Given the description of an element on the screen output the (x, y) to click on. 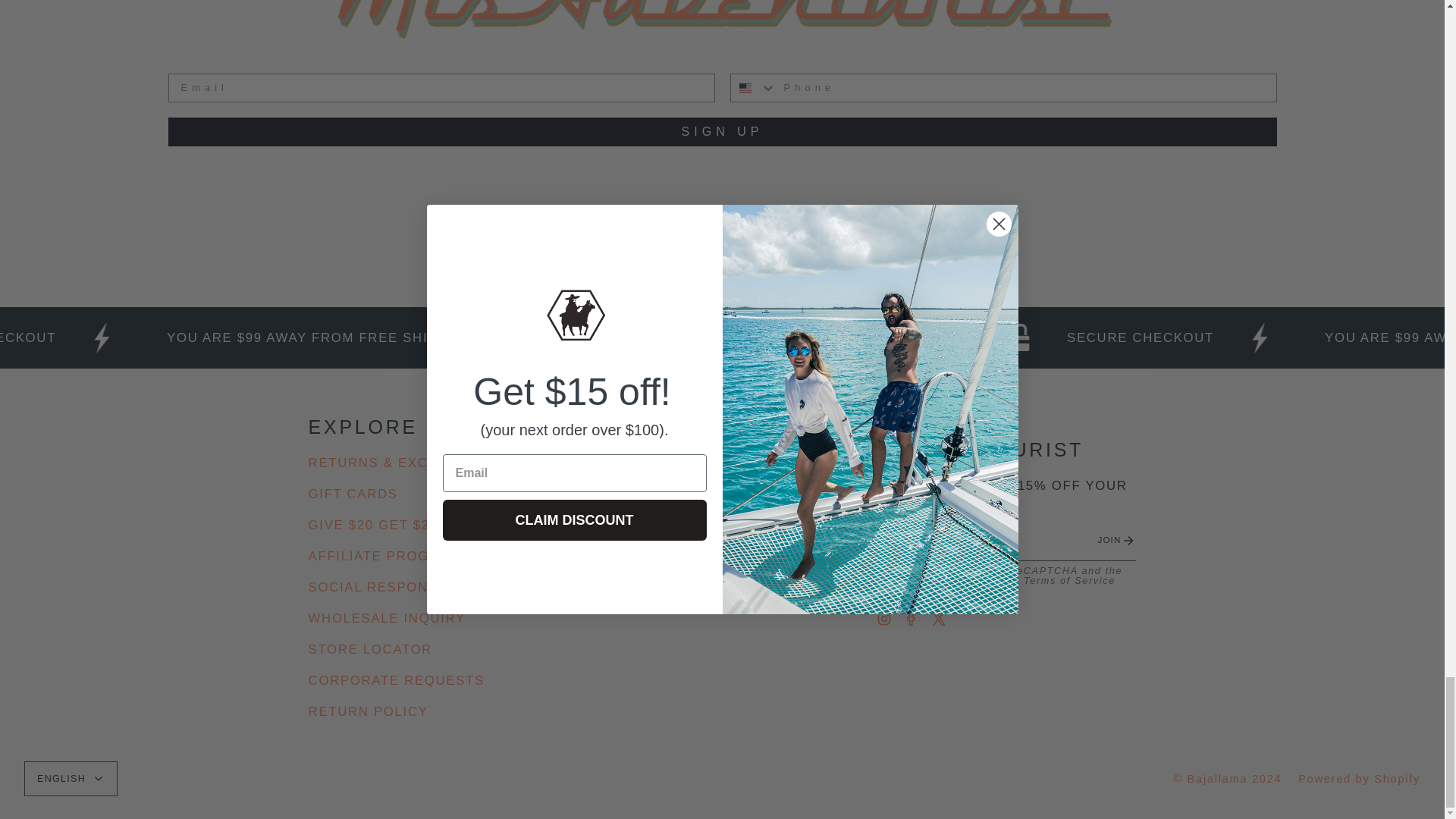
Bajallama on Facebook (911, 617)
Bajallama on Twitter (938, 617)
United States (744, 87)
Bajallama on Instagram (883, 617)
